Given the description of an element on the screen output the (x, y) to click on. 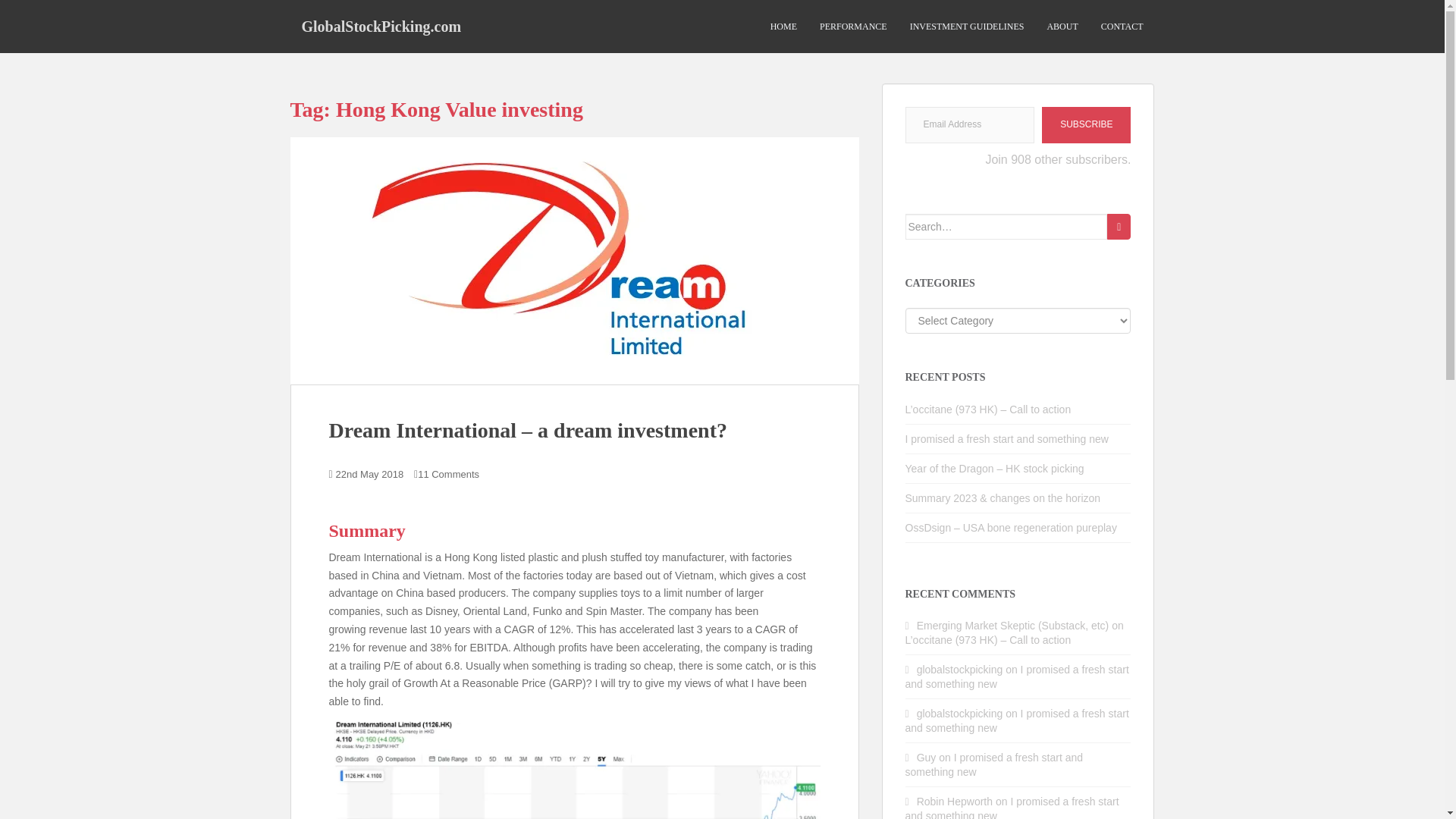
HOME (783, 26)
Search for: (1006, 226)
INVESTMENT GUIDELINES (967, 26)
I promised a fresh start and something new (1006, 439)
Search (1118, 226)
22nd May 2018 (370, 473)
GlobalStockPicking.com (380, 26)
ABOUT (1061, 26)
I promised a fresh start and something new (1012, 807)
SUBSCRIBE (1086, 125)
I promised a fresh start and something new (1017, 676)
11 Comments (448, 473)
CONTACT (1121, 26)
I promised a fresh start and something new (1017, 720)
PERFORMANCE (852, 26)
